Given the description of an element on the screen output the (x, y) to click on. 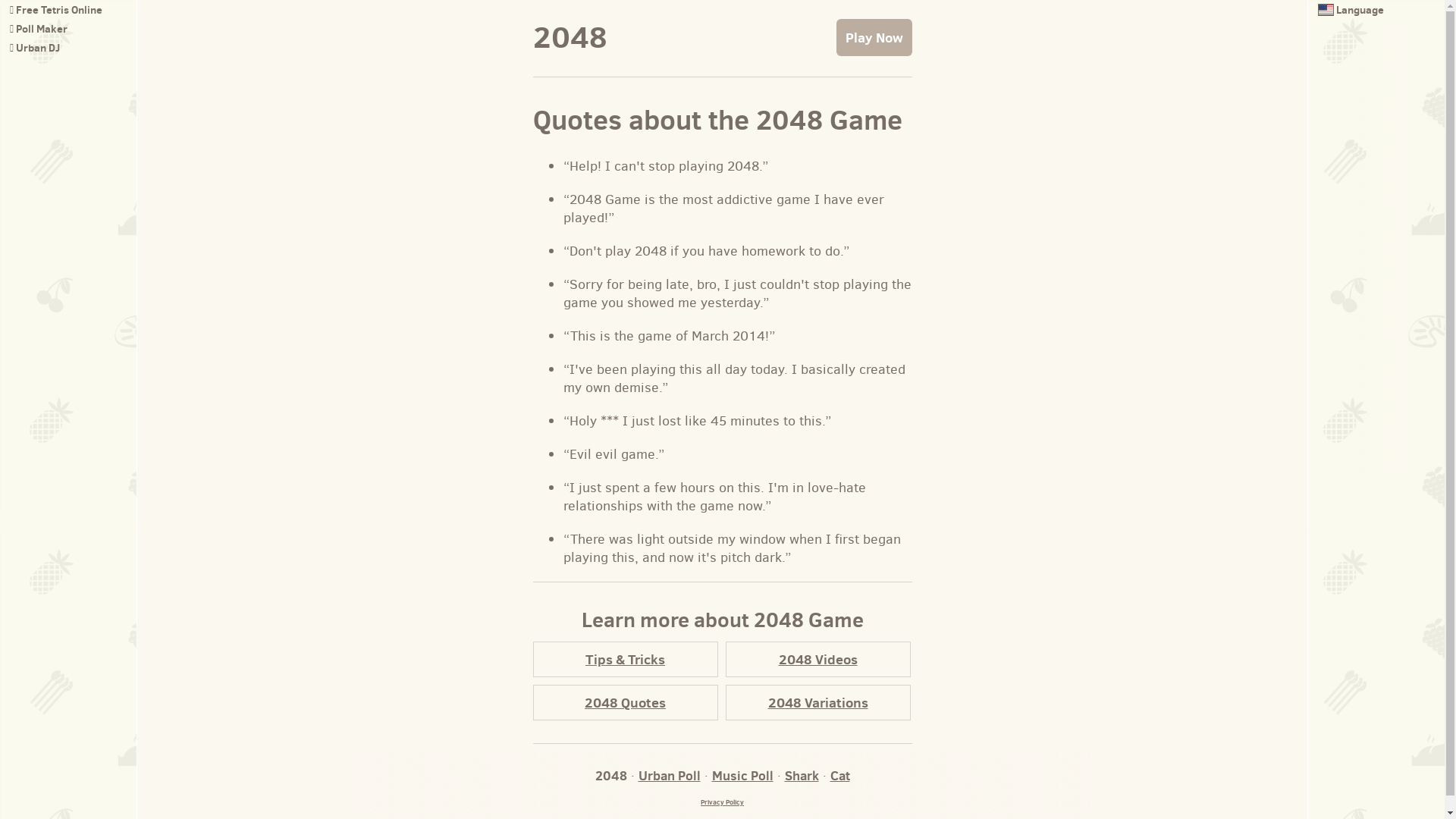
2048 Element type: text (569, 36)
2048 Videos Element type: text (818, 659)
Music Poll Element type: text (741, 775)
Urban Poll Element type: text (669, 775)
3rd party ad content Element type: hover (1391, 249)
2048 Quotes Element type: text (625, 702)
Tips & Tricks Element type: text (625, 659)
Privacy Policy Element type: text (721, 801)
2048 Variations Element type: text (818, 702)
Language Element type: text (1350, 9)
Play Now Element type: text (873, 37)
Shark Element type: text (801, 775)
Cat Element type: text (839, 775)
